Given the description of an element on the screen output the (x, y) to click on. 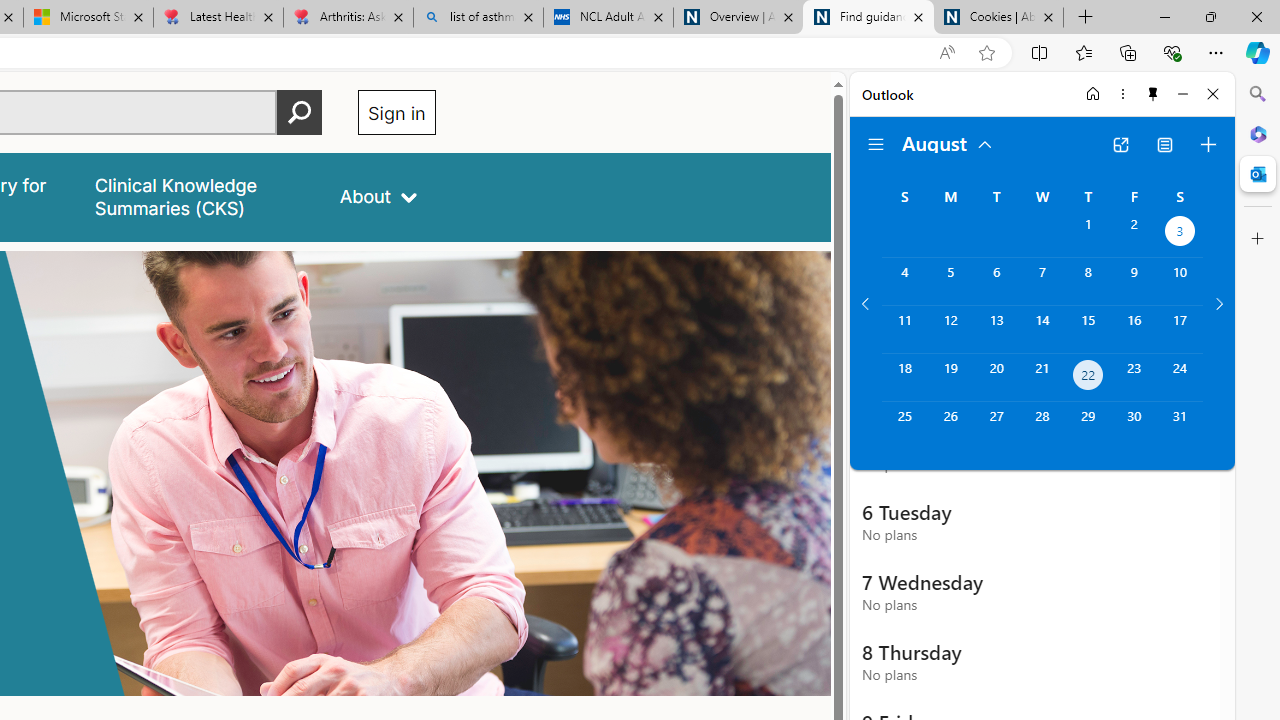
Monday, August 5, 2024.  (950, 281)
